Given the description of an element on the screen output the (x, y) to click on. 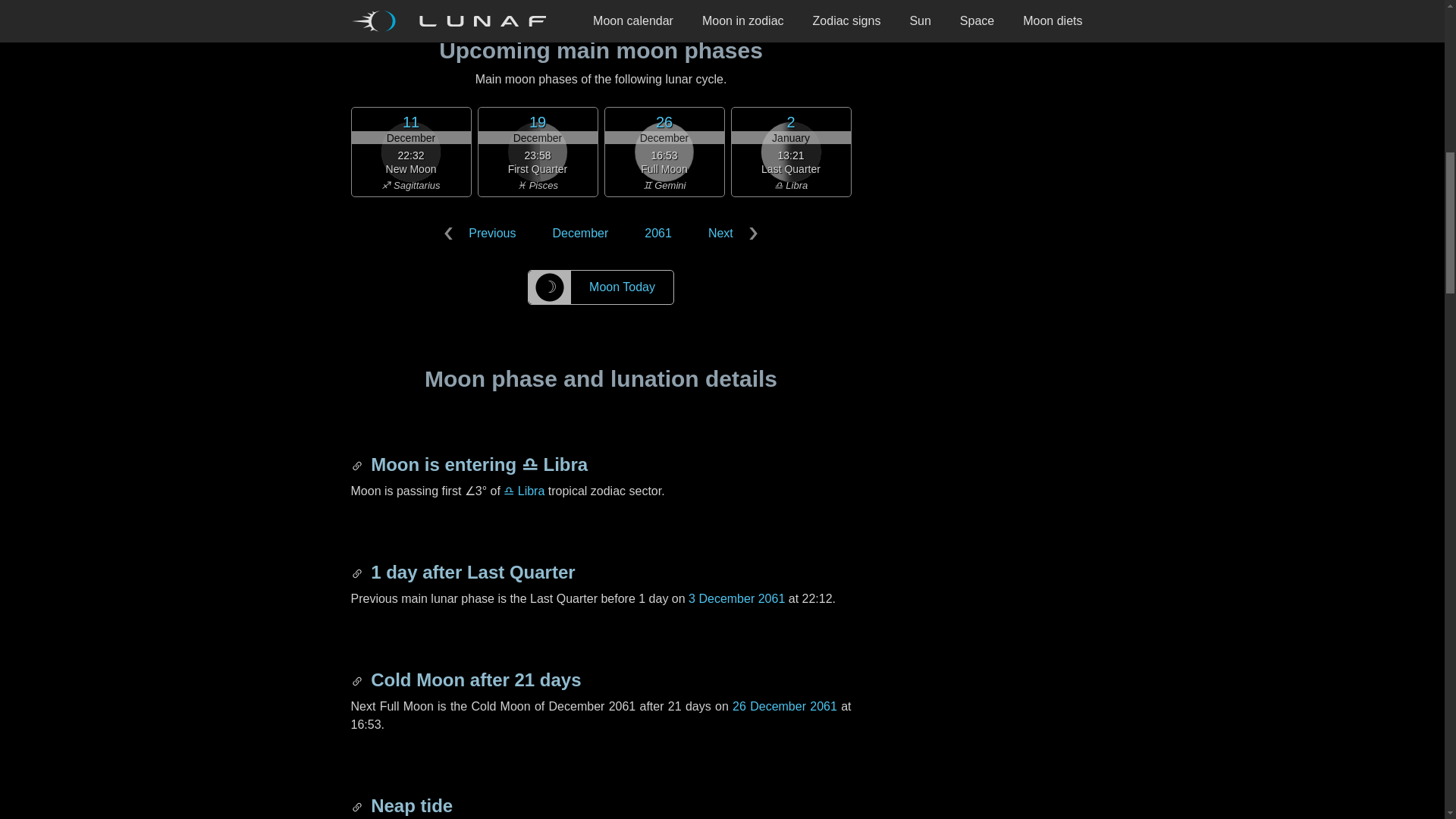
Previous (483, 233)
Next (730, 233)
26 December 2061 (784, 706)
2061 (658, 233)
3 December 2061 (736, 598)
December (580, 233)
